Given the description of an element on the screen output the (x, y) to click on. 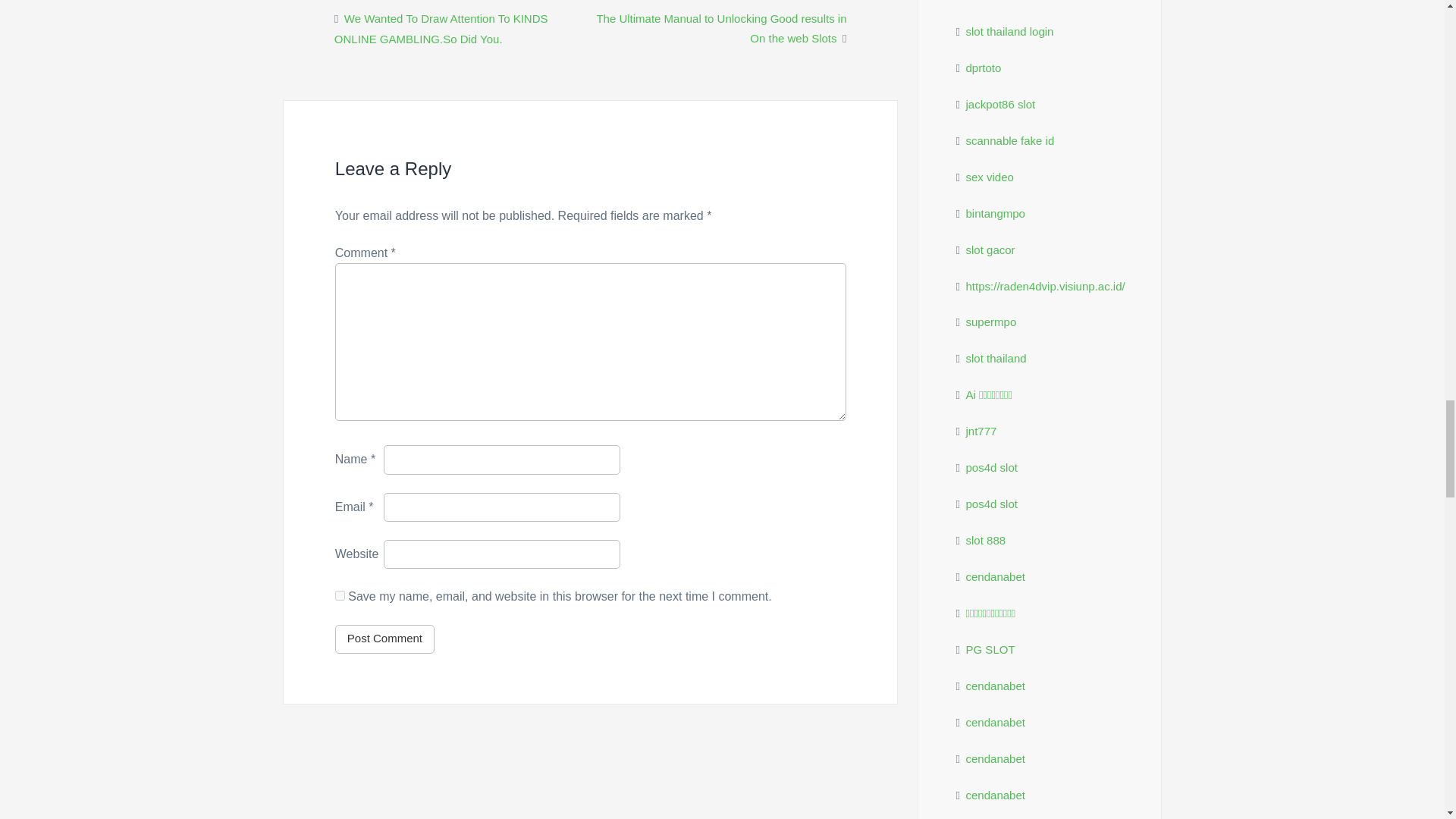
Post Comment (383, 638)
yes (339, 595)
Post Comment (383, 638)
